Given the description of an element on the screen output the (x, y) to click on. 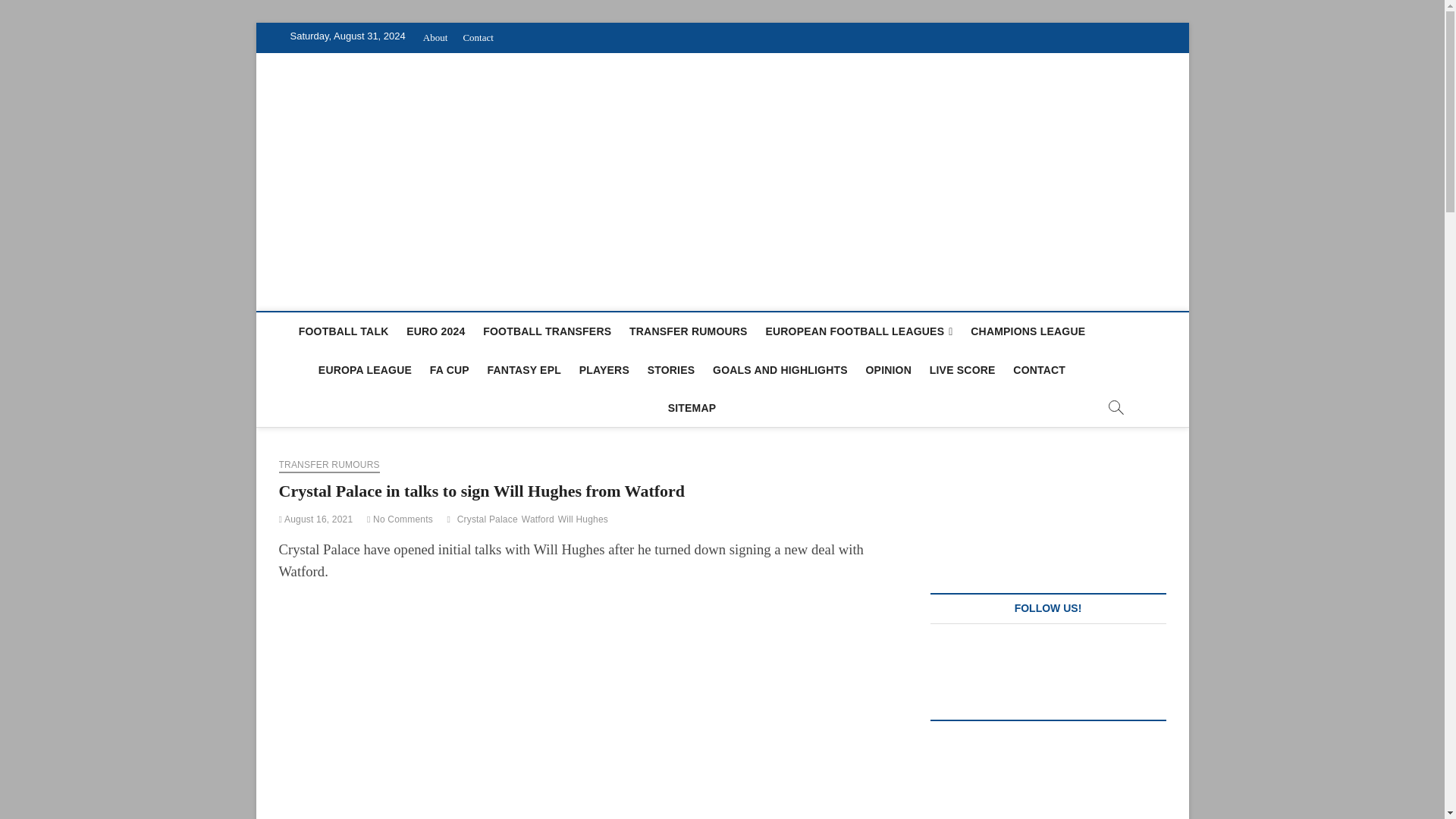
EUROPA LEAGUE (365, 370)
FANTASY EPL (524, 370)
SITEMAP (692, 407)
EUROPEAN FOOTBALL LEAGUES (858, 331)
LIVE SCORE (962, 370)
EURO 2024 (434, 331)
FootballTalk.org (377, 103)
FA CUP (449, 370)
PLAYERS (604, 370)
STORIES (671, 370)
